Given the description of an element on the screen output the (x, y) to click on. 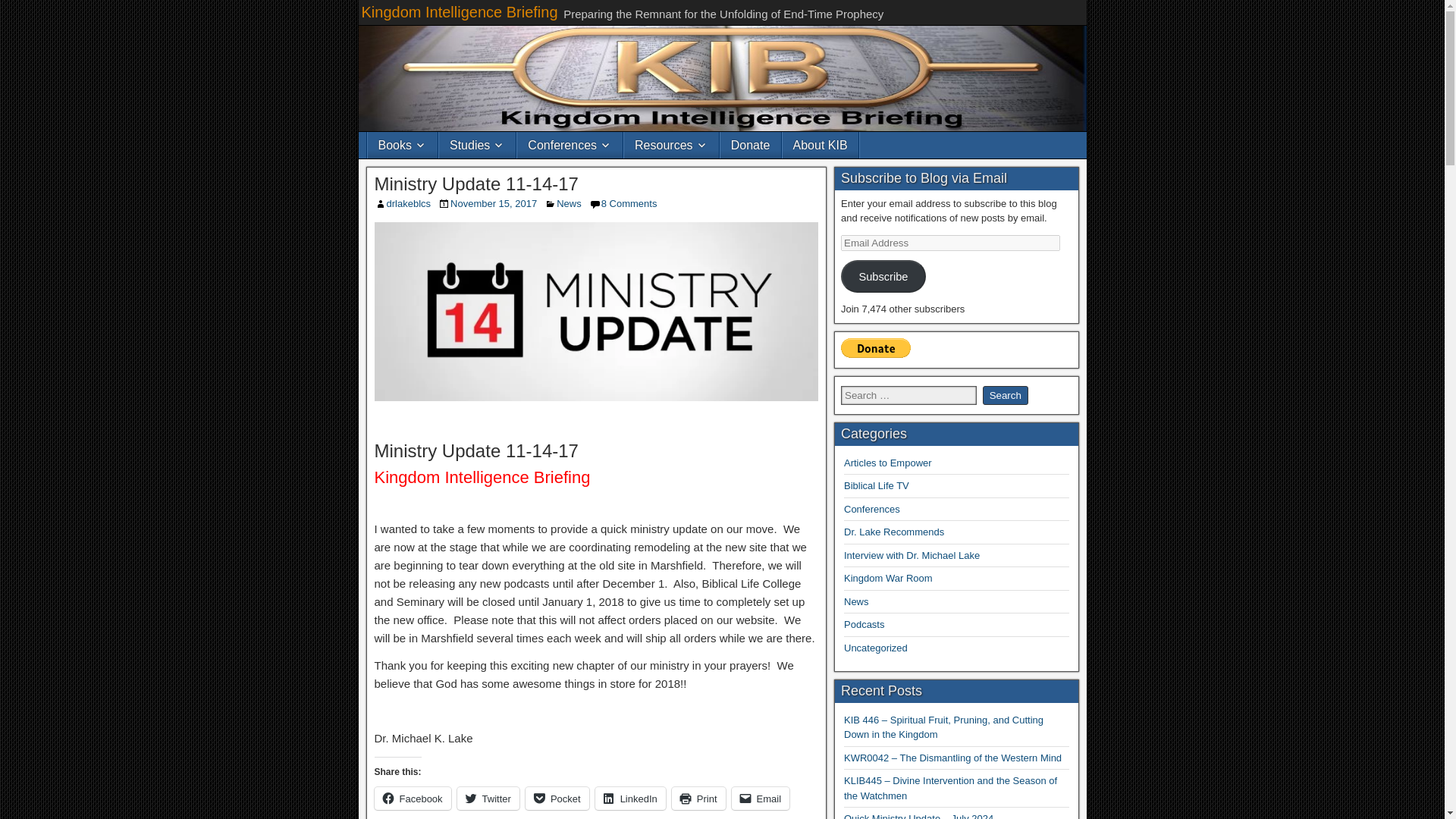
Click to share on LinkedIn (630, 798)
Conferences (569, 144)
Donate (750, 144)
Print (698, 798)
News (568, 203)
Facebook (412, 798)
Search (1004, 394)
Kingdom Intelligence Briefing (459, 12)
Books (401, 144)
About KIB (821, 144)
Click to email a link to a friend (761, 798)
Click to share on Pocket (557, 798)
Pocket (557, 798)
LinkedIn (630, 798)
Click to share on Twitter (488, 798)
